Given the description of an element on the screen output the (x, y) to click on. 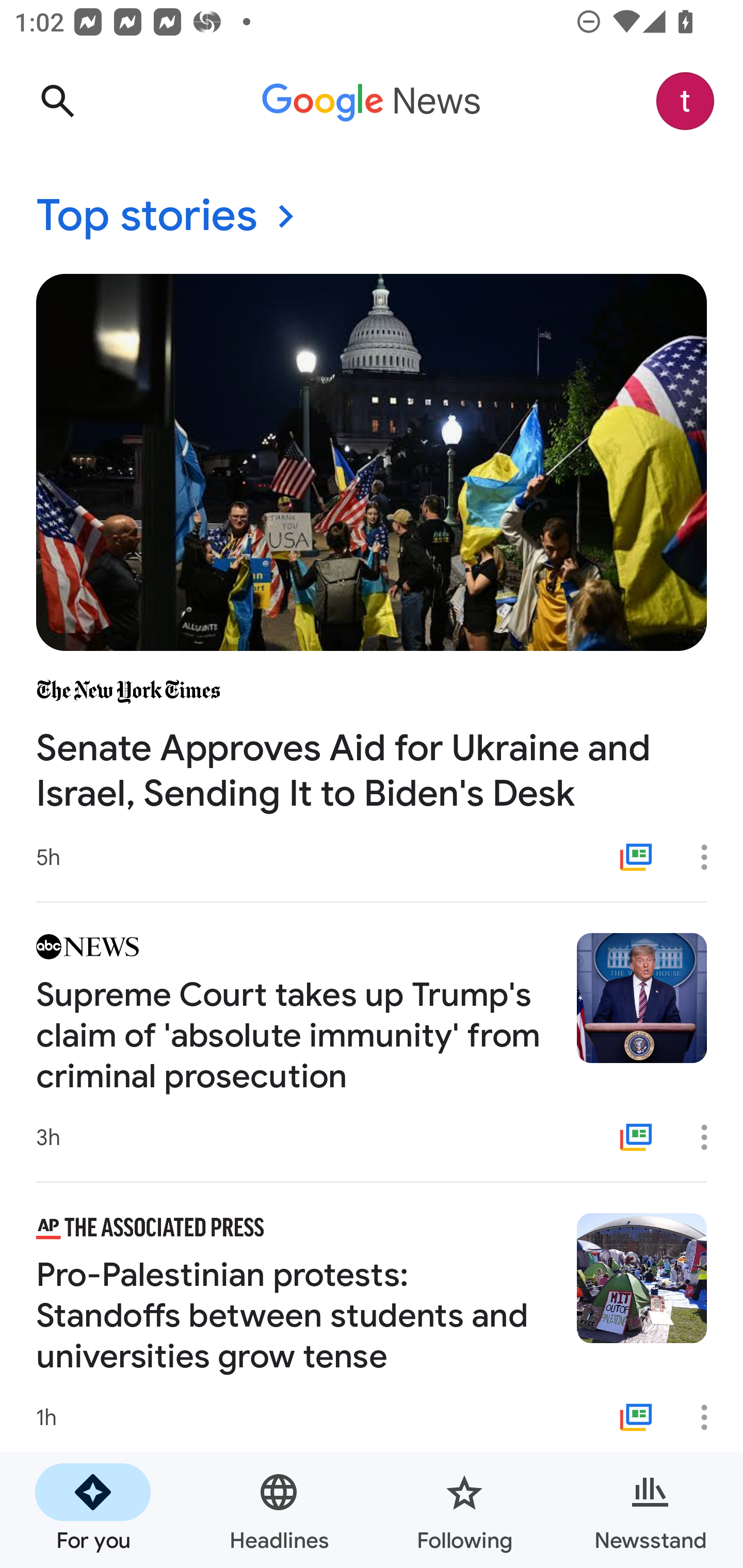
Search (57, 100)
Top stories (371, 216)
More options (711, 856)
More options (711, 1137)
More options (711, 1417)
For you (92, 1509)
Headlines (278, 1509)
Following (464, 1509)
Newsstand (650, 1509)
